Given the description of an element on the screen output the (x, y) to click on. 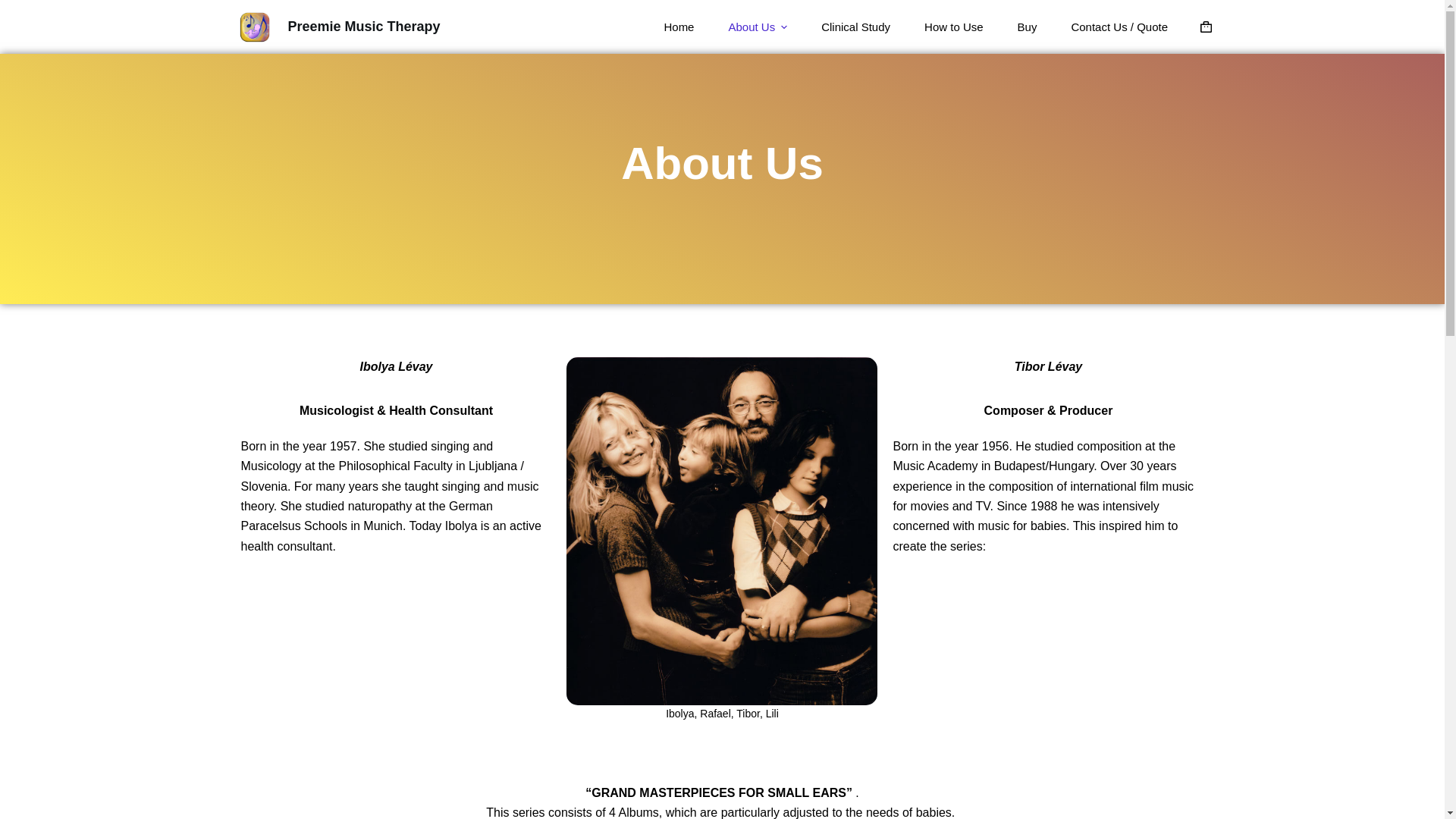
How to Use (954, 27)
Home (678, 27)
Preemie Music Therapy (364, 26)
Skip to content (15, 7)
About Us (758, 27)
Buy (1027, 27)
Clinical Study (856, 27)
